Given the description of an element on the screen output the (x, y) to click on. 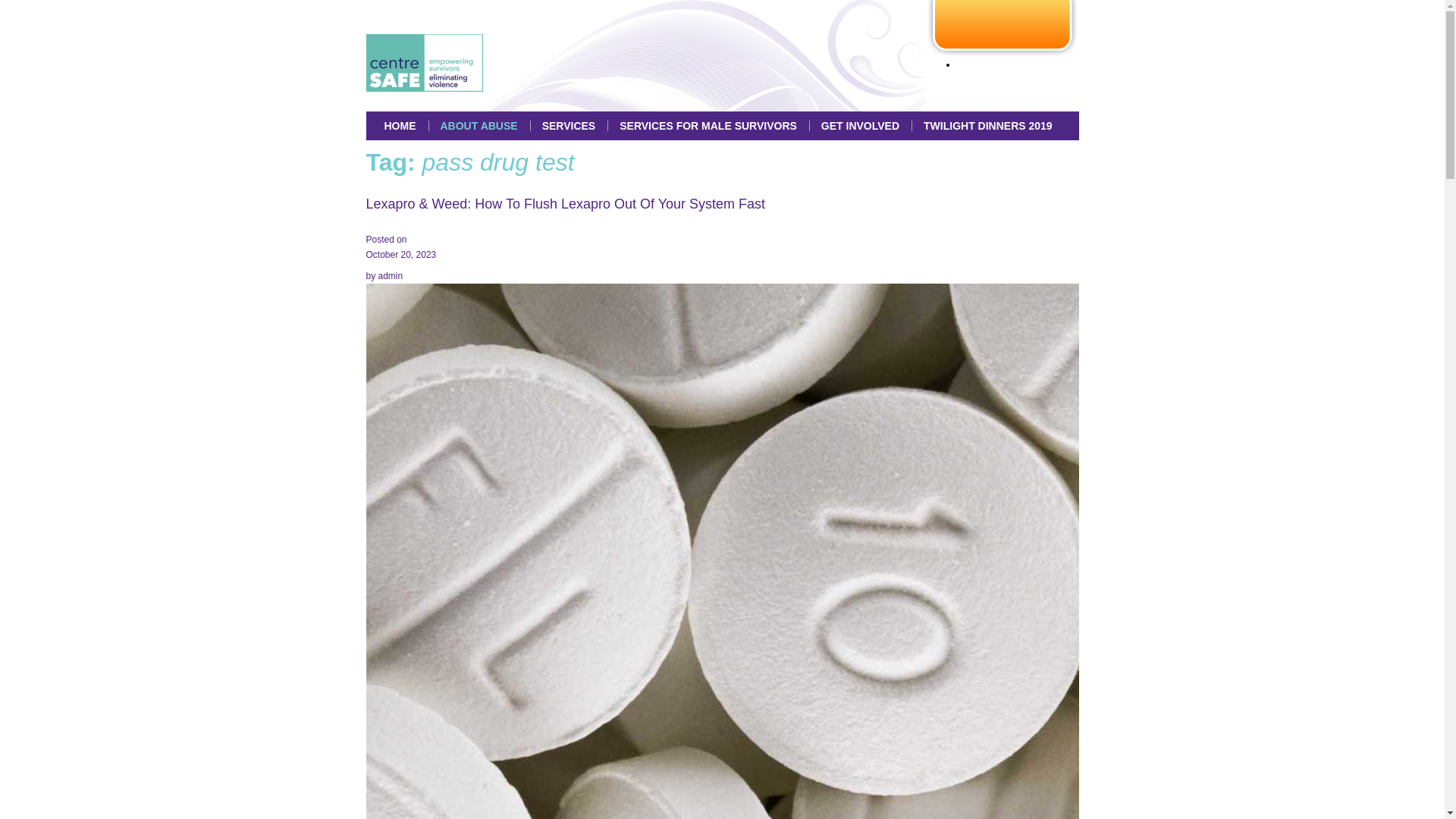
ABOUT ABUSE (478, 125)
SERVICES (568, 125)
HOME (399, 125)
